Given the description of an element on the screen output the (x, y) to click on. 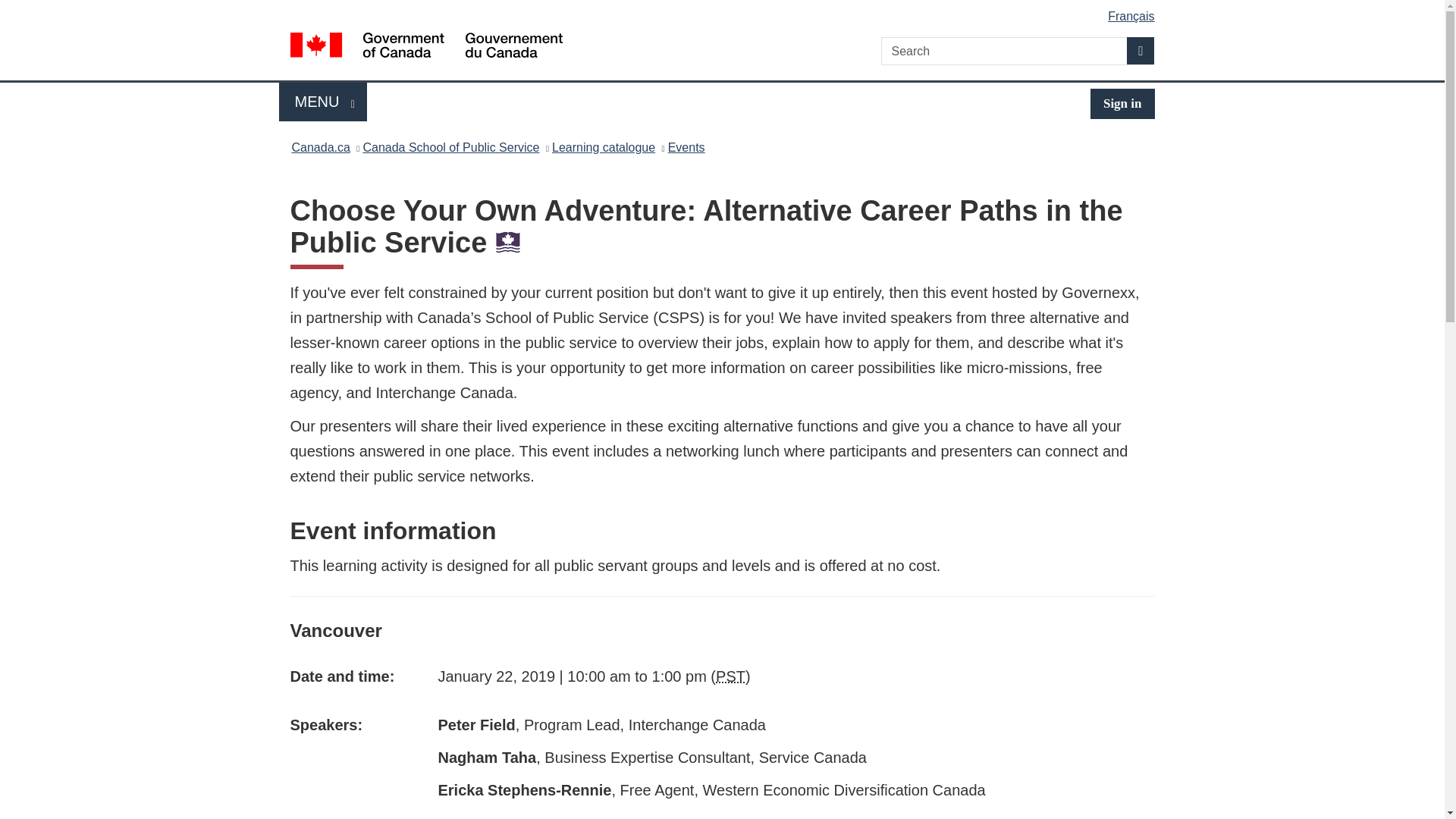
Canada.ca (320, 147)
Events (686, 147)
Skip to main content (725, 11)
Canada School of Public Service (450, 147)
Search (1140, 50)
Pacific Standard Time (730, 676)
Learning catalogue (603, 147)
Sign in (322, 101)
